Given the description of an element on the screen output the (x, y) to click on. 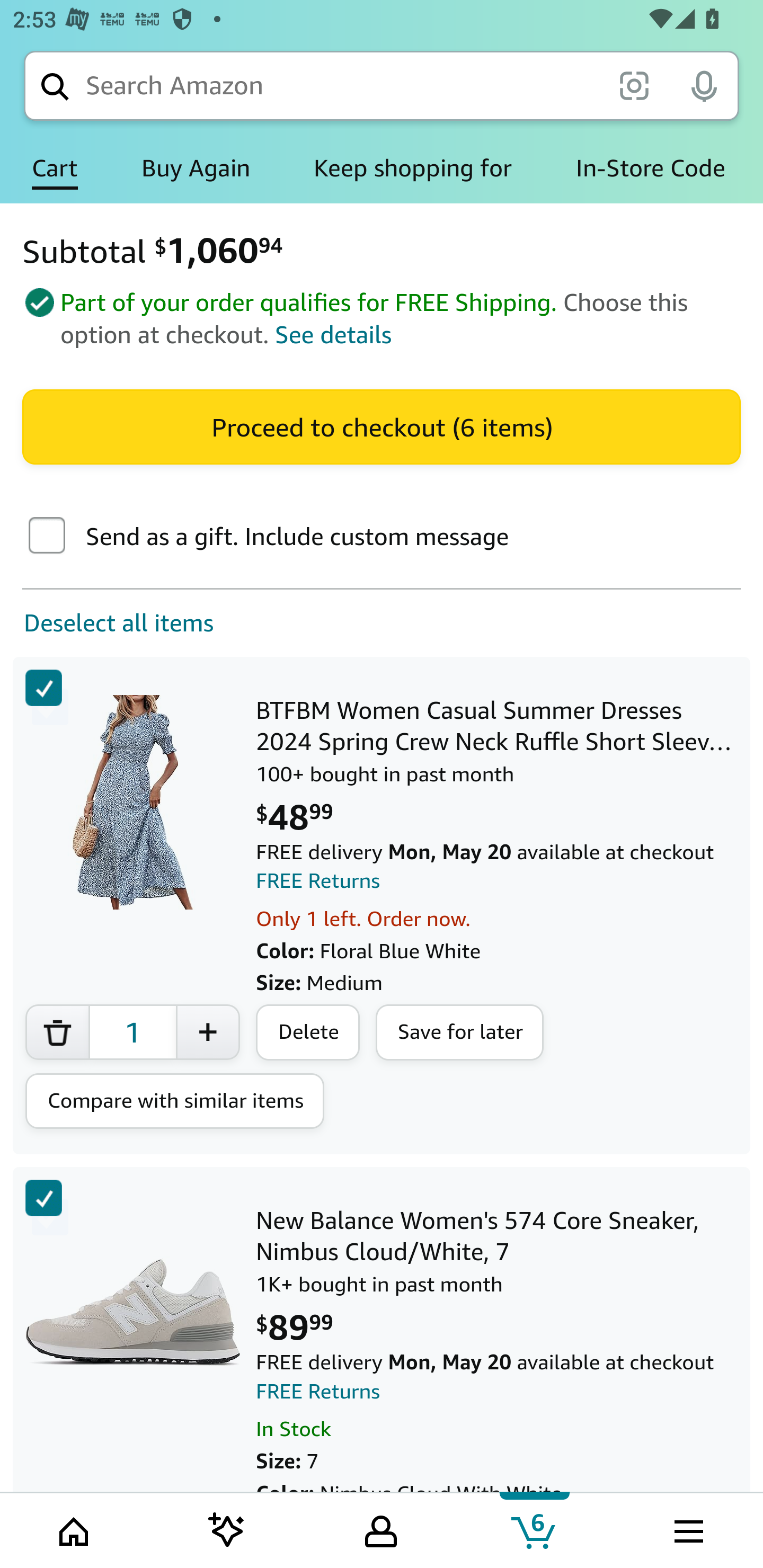
scan it (633, 85)
Cart (54, 168)
Buy Again (195, 168)
Keep shopping for (412, 168)
In-Store Code (650, 168)
See details (333, 334)
Proceed to checkout (6 items) (381, 426)
Send as a gift. Include custom message (46, 536)
Deselect all items (107, 623)
FREE Returns (318, 880)
Delete (308, 1032)
Save for later (459, 1032)
1 (132, 1032)
Compare with similar items (174, 1101)
FREE Returns (318, 1391)
Home Tab 1 of 5 (75, 1529)
Inspire feed Tab 2 of 5 (227, 1529)
Your Amazon.com Tab 3 of 5 (380, 1529)
Cart 6 items Tab 4 of 5 6 (534, 1529)
Browse menu Tab 5 of 5 (687, 1529)
